Given the description of an element on the screen output the (x, y) to click on. 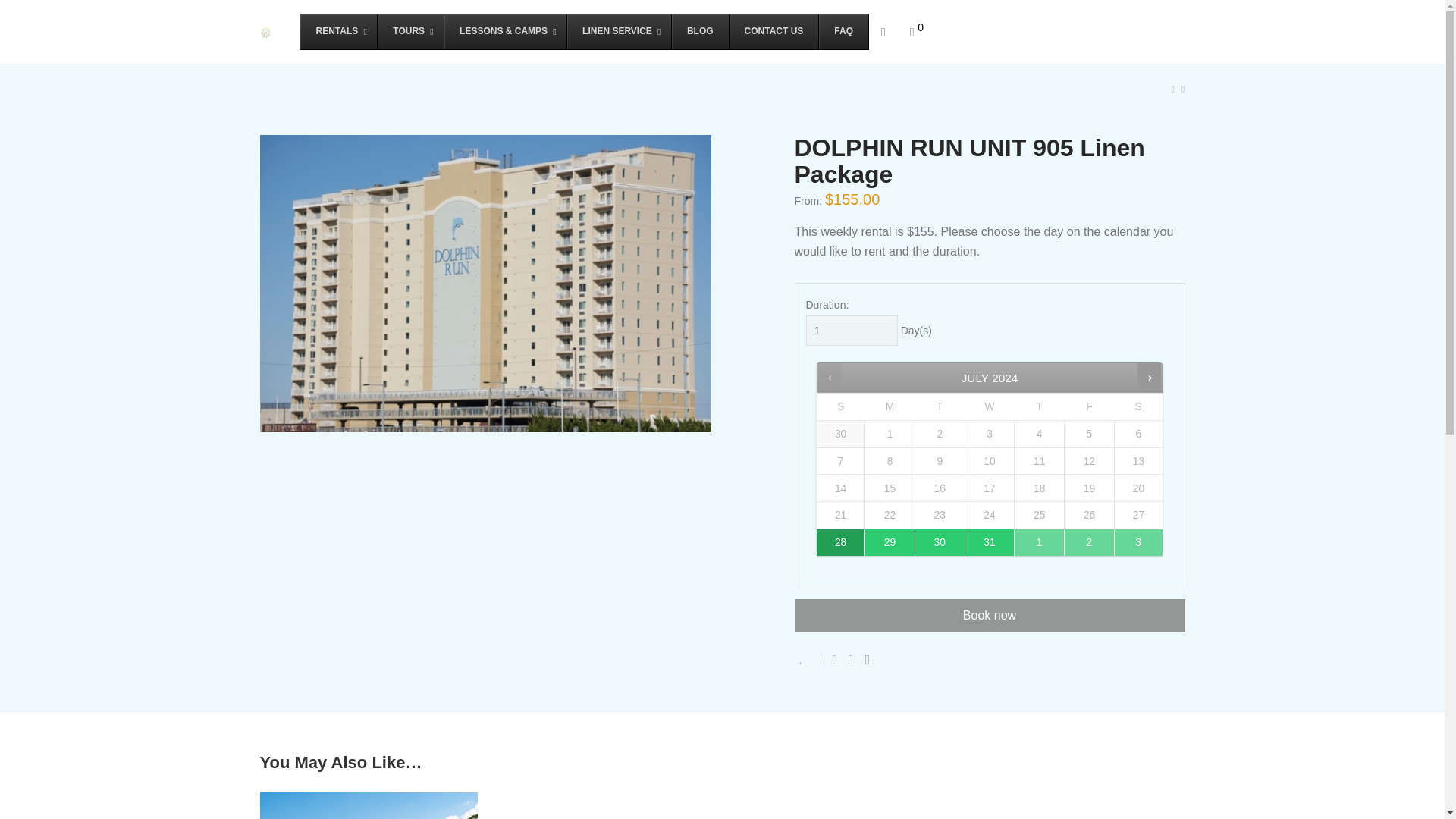
This date is unavailable (1039, 433)
This date is unavailable (1089, 433)
This date is unavailable (889, 433)
Wednesday (989, 406)
Previous (829, 377)
Tuesday (939, 406)
Sunday (840, 406)
This date is unavailable (840, 461)
Monday (890, 406)
RENTALS (338, 31)
Friday (1089, 406)
This date is unavailable (840, 433)
Next (1148, 377)
1 (850, 330)
